Given the description of an element on the screen output the (x, y) to click on. 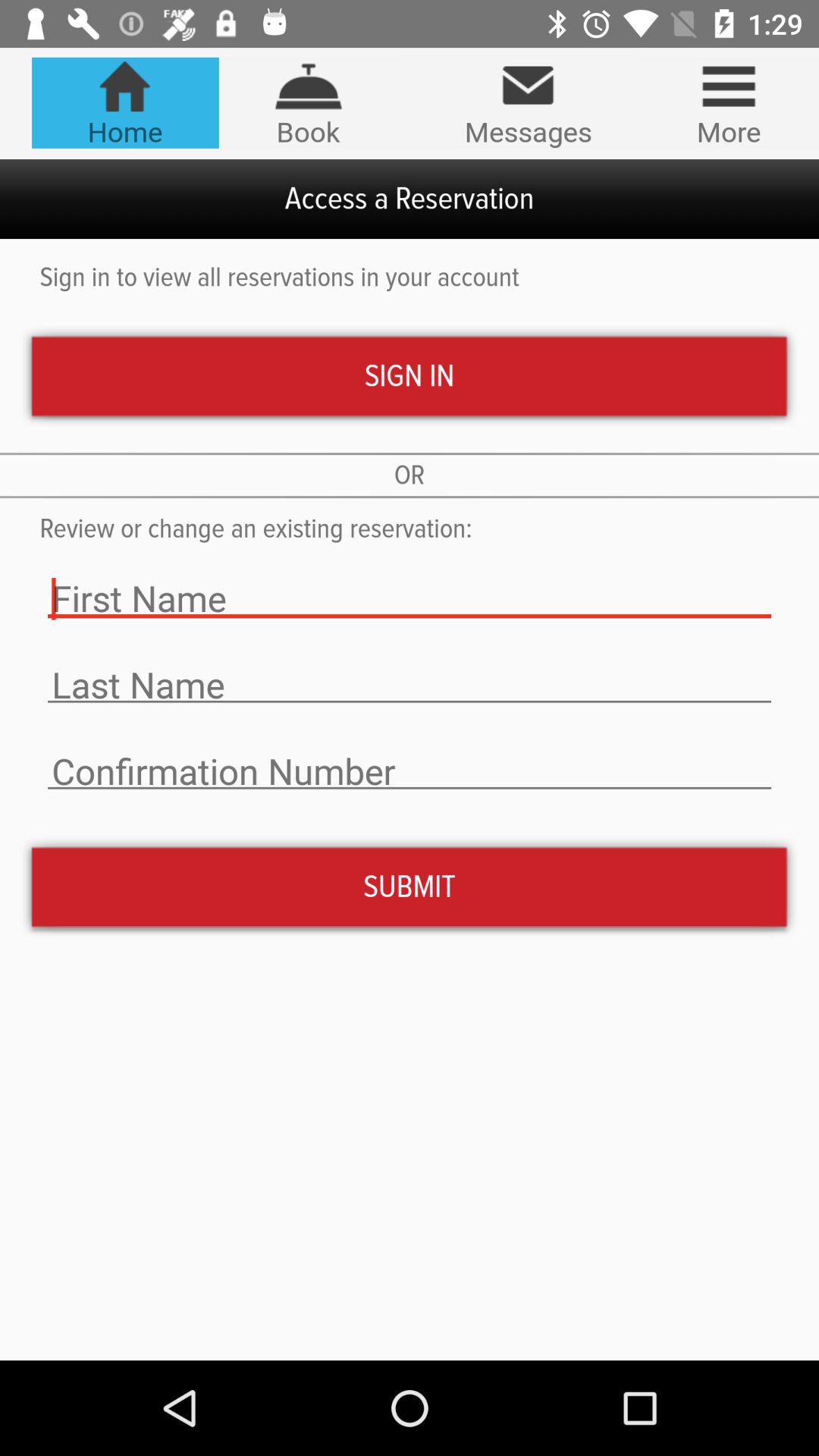
swipe to book icon (308, 102)
